Given the description of an element on the screen output the (x, y) to click on. 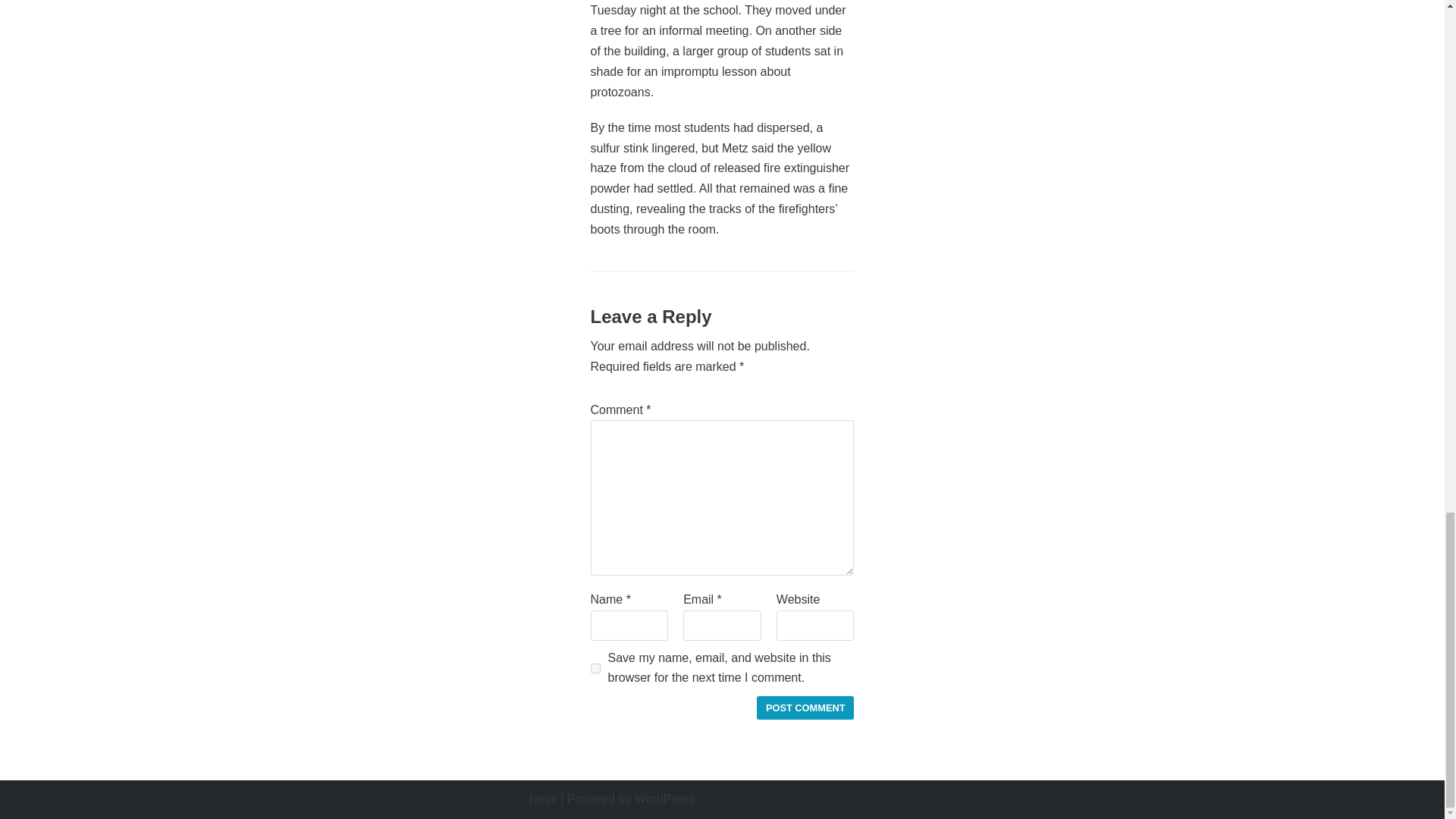
Neve (543, 798)
Post Comment (805, 707)
Post Comment (805, 707)
yes (594, 668)
WordPress (664, 798)
